Given the description of an element on the screen output the (x, y) to click on. 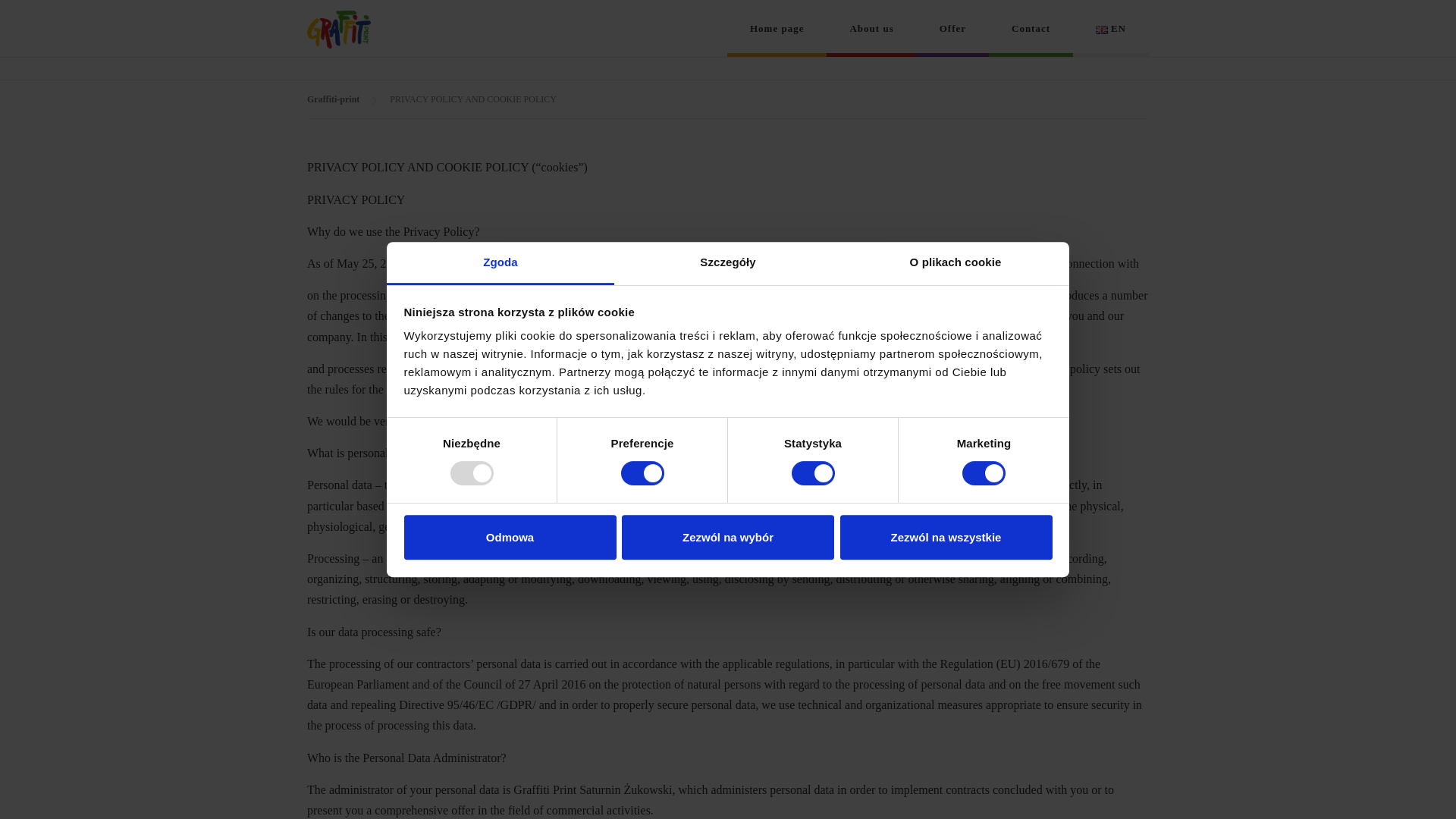
Zgoda (500, 263)
About us (871, 28)
O plikach cookie (954, 263)
Offer (952, 28)
Home page (776, 28)
Odmowa (509, 537)
